Given the description of an element on the screen output the (x, y) to click on. 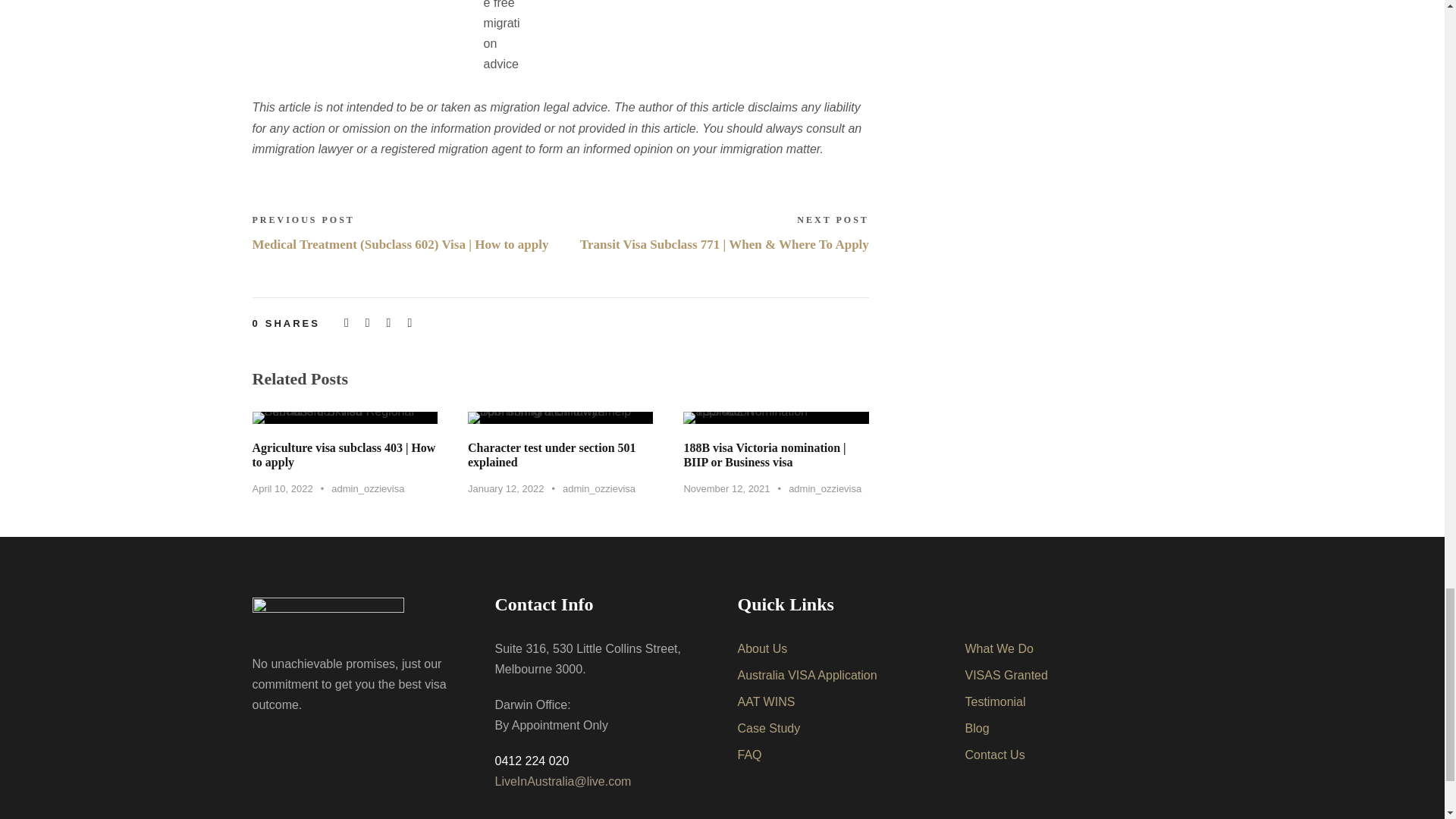
Nomination (774, 417)
young child crying (559, 417)
regional 5 (343, 417)
